Given the description of an element on the screen output the (x, y) to click on. 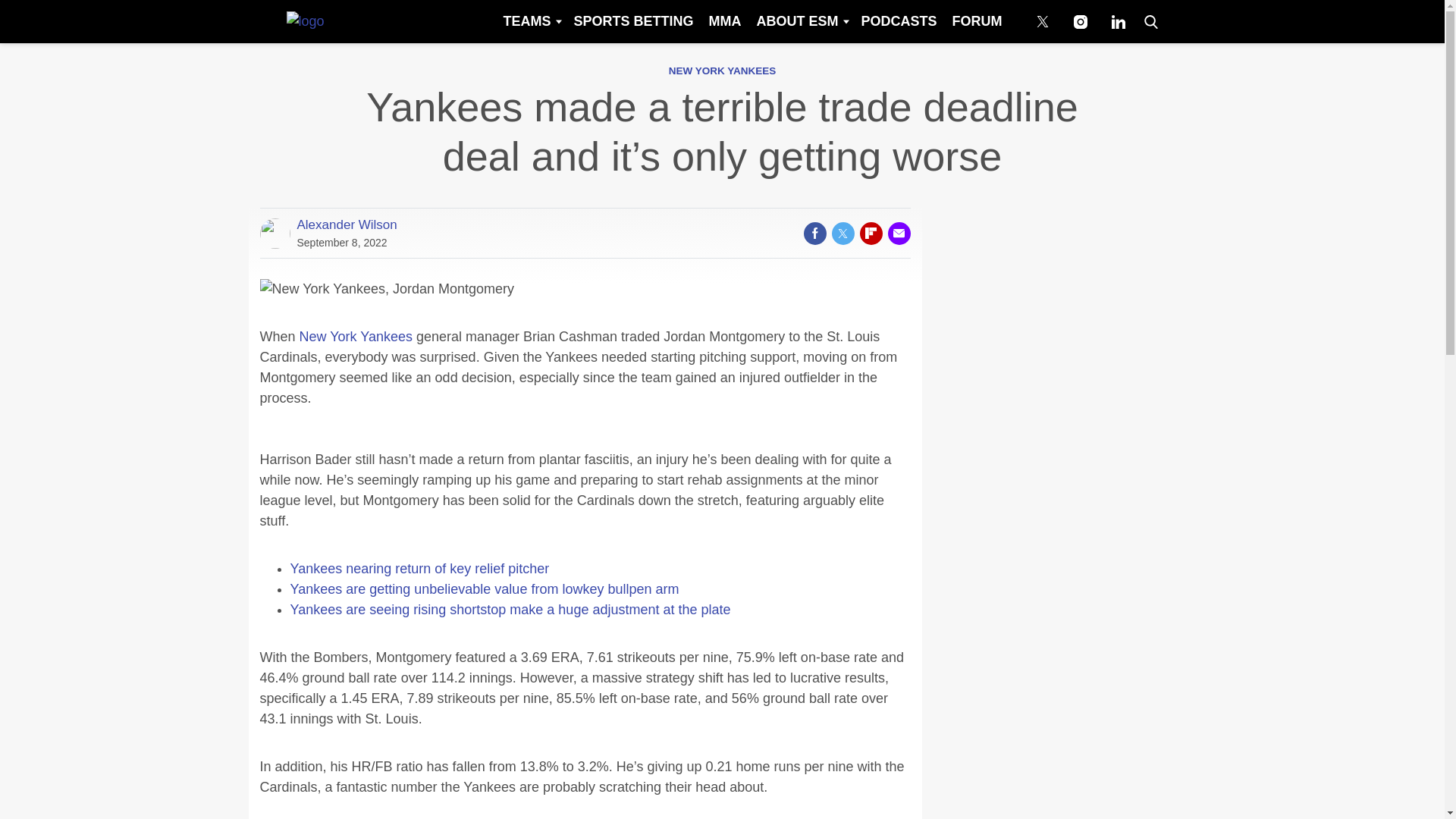
Share on Twitter (842, 232)
Share on Facebook (815, 232)
FORUM (977, 21)
Share on Flipboard (871, 232)
SPORTS BETTING (633, 21)
New York Yankees (355, 336)
Posts by Alexander Wilson (347, 225)
TEAMS (530, 21)
PODCASTS (898, 21)
NEW YORK YANKEES (722, 70)
Share via Email (898, 232)
Yankees nearing return of key relief pitcher (418, 568)
MMA (724, 21)
